Given the description of an element on the screen output the (x, y) to click on. 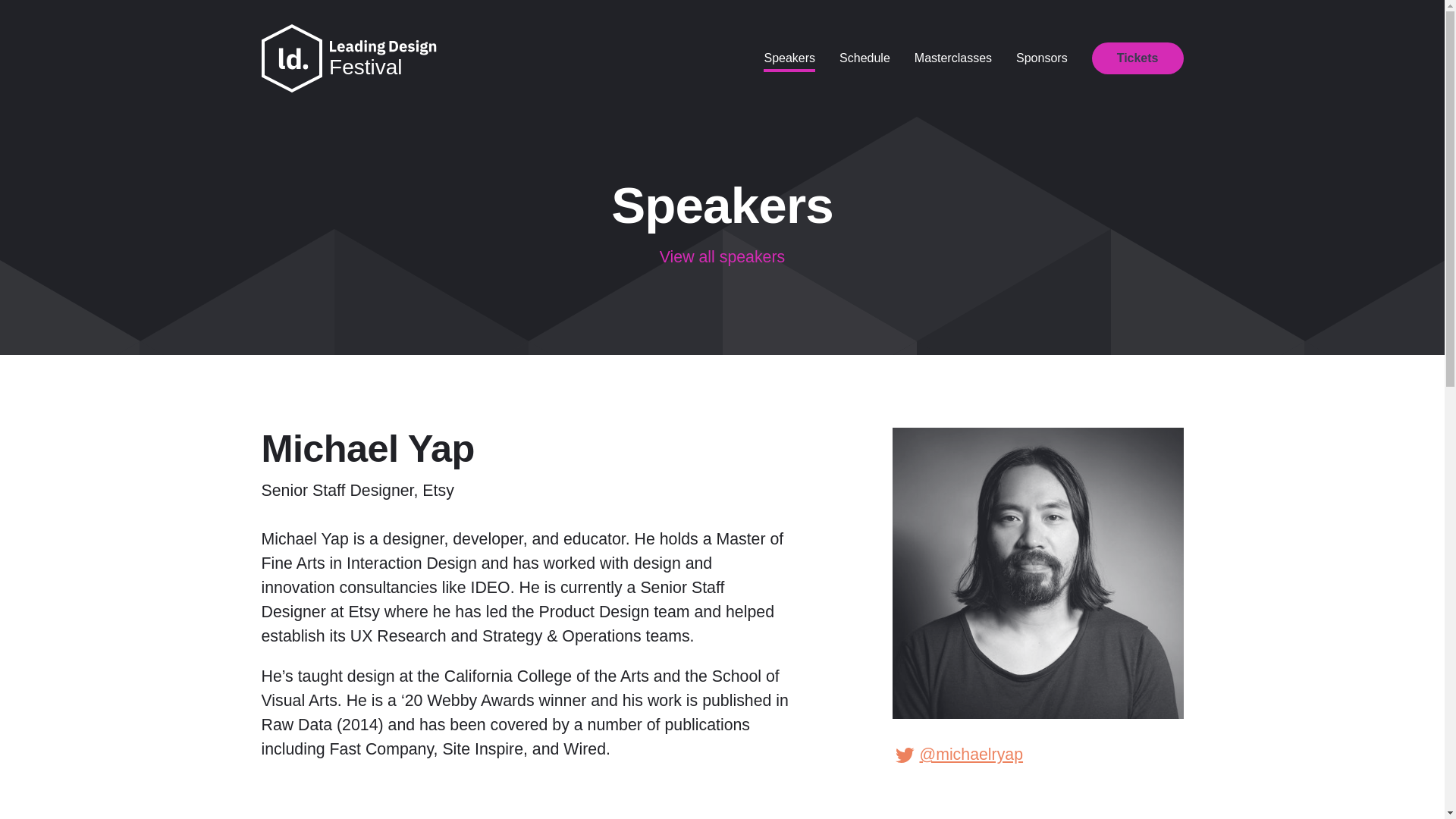
Schedule (864, 58)
Speakers (788, 58)
Sponsors (1041, 58)
Masterclasses (952, 58)
View all speakers (721, 257)
Tickets (1137, 58)
Festival (365, 66)
